Given the description of an element on the screen output the (x, y) to click on. 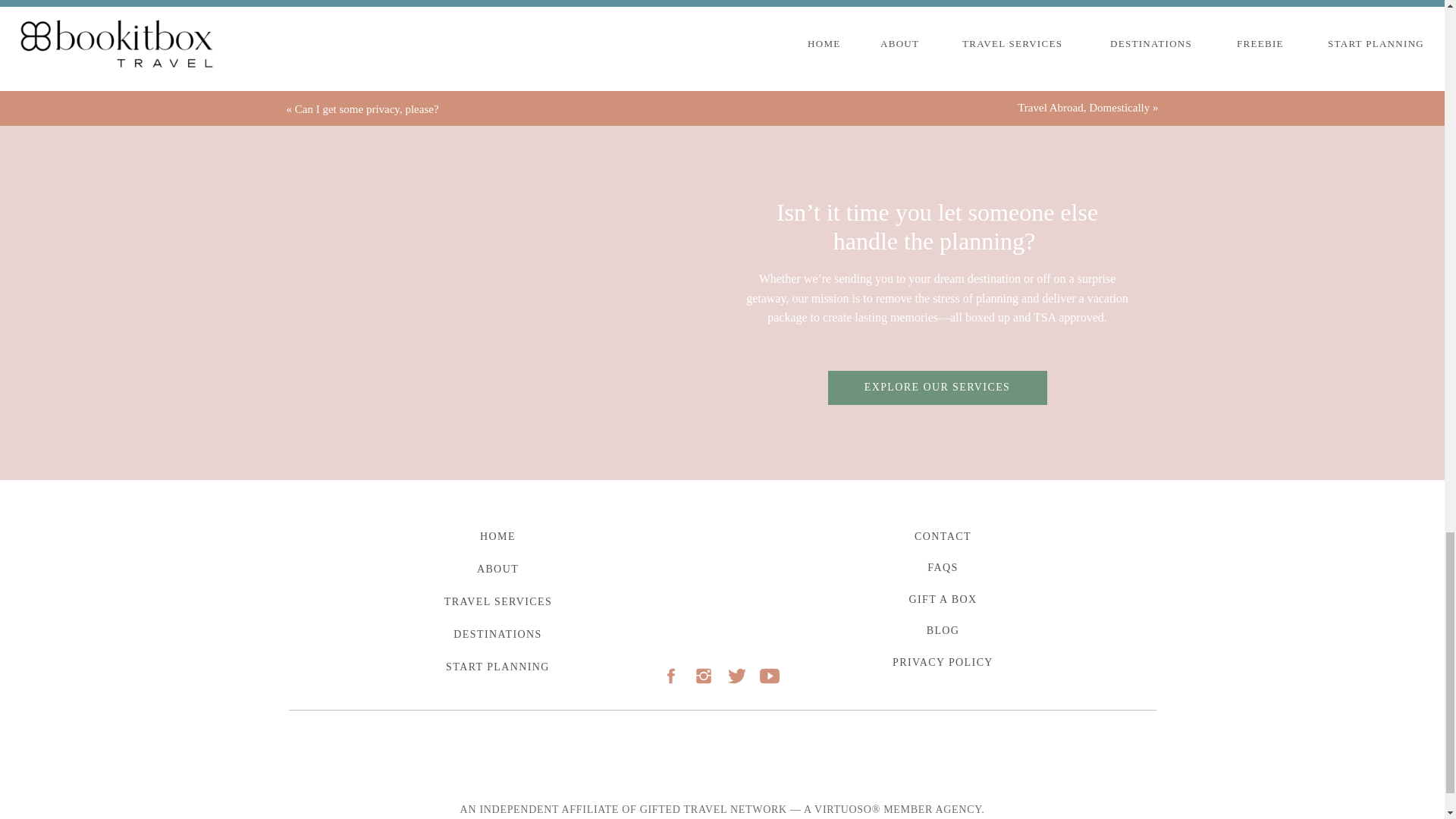
GIFT A BOX (941, 598)
Can I get some privacy, please? (367, 109)
START PLANNING (497, 666)
CONTACT (942, 536)
EXPLORE OUR SERVICES (937, 388)
BLOG (942, 629)
FAQS (941, 567)
TRAVEL SERVICES (498, 600)
PRIVACY POLICY (942, 661)
HOME (497, 536)
